Given the description of an element on the screen output the (x, y) to click on. 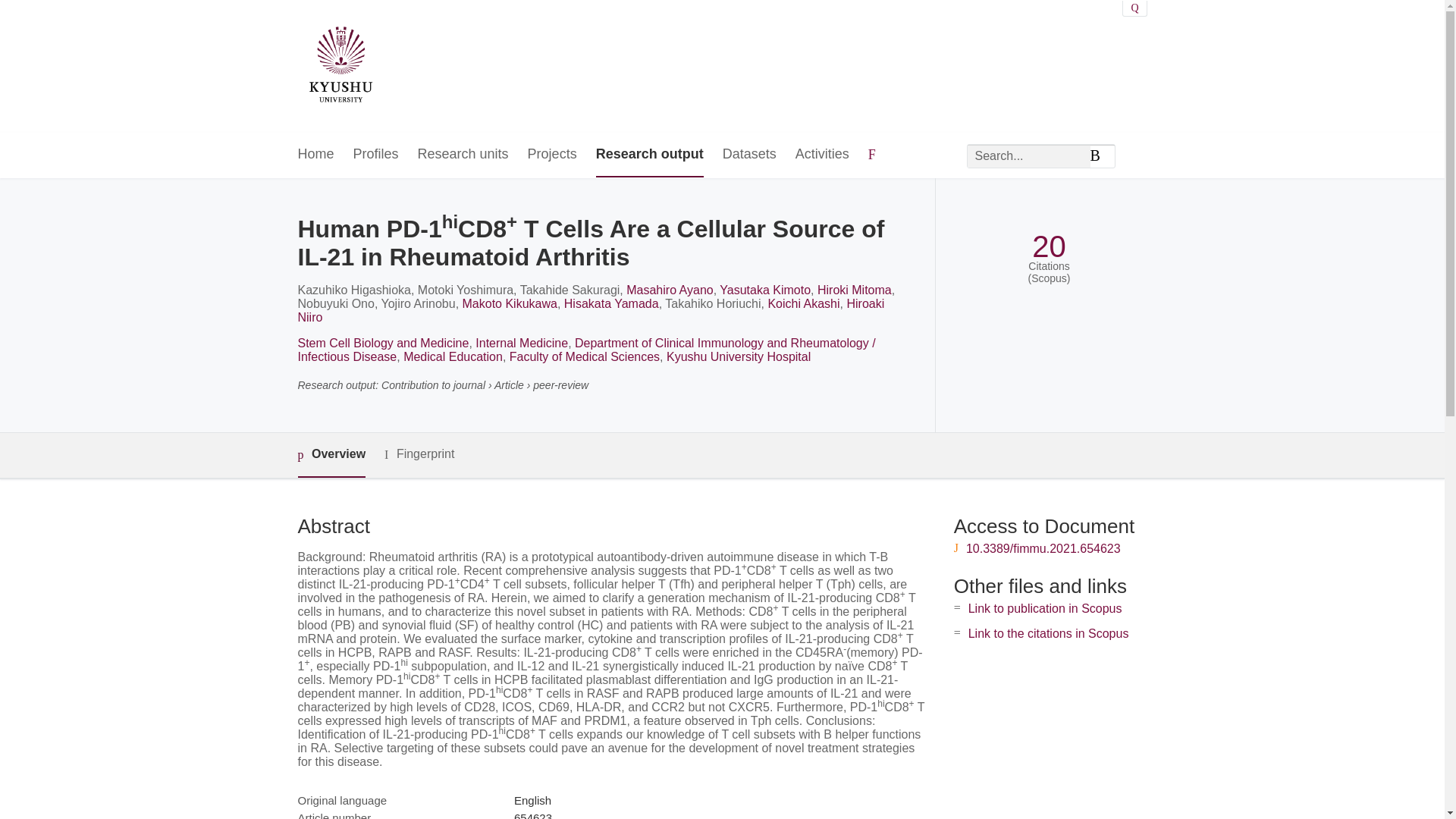
Medical Education (452, 356)
Koichi Akashi (803, 303)
Yasutaka Kimoto (764, 289)
Projects (551, 154)
Link to publication in Scopus (1045, 608)
Masahiro Ayano (669, 289)
Internal Medicine (521, 342)
Hisakata Yamada (611, 303)
Research units (462, 154)
